Given the description of an element on the screen output the (x, y) to click on. 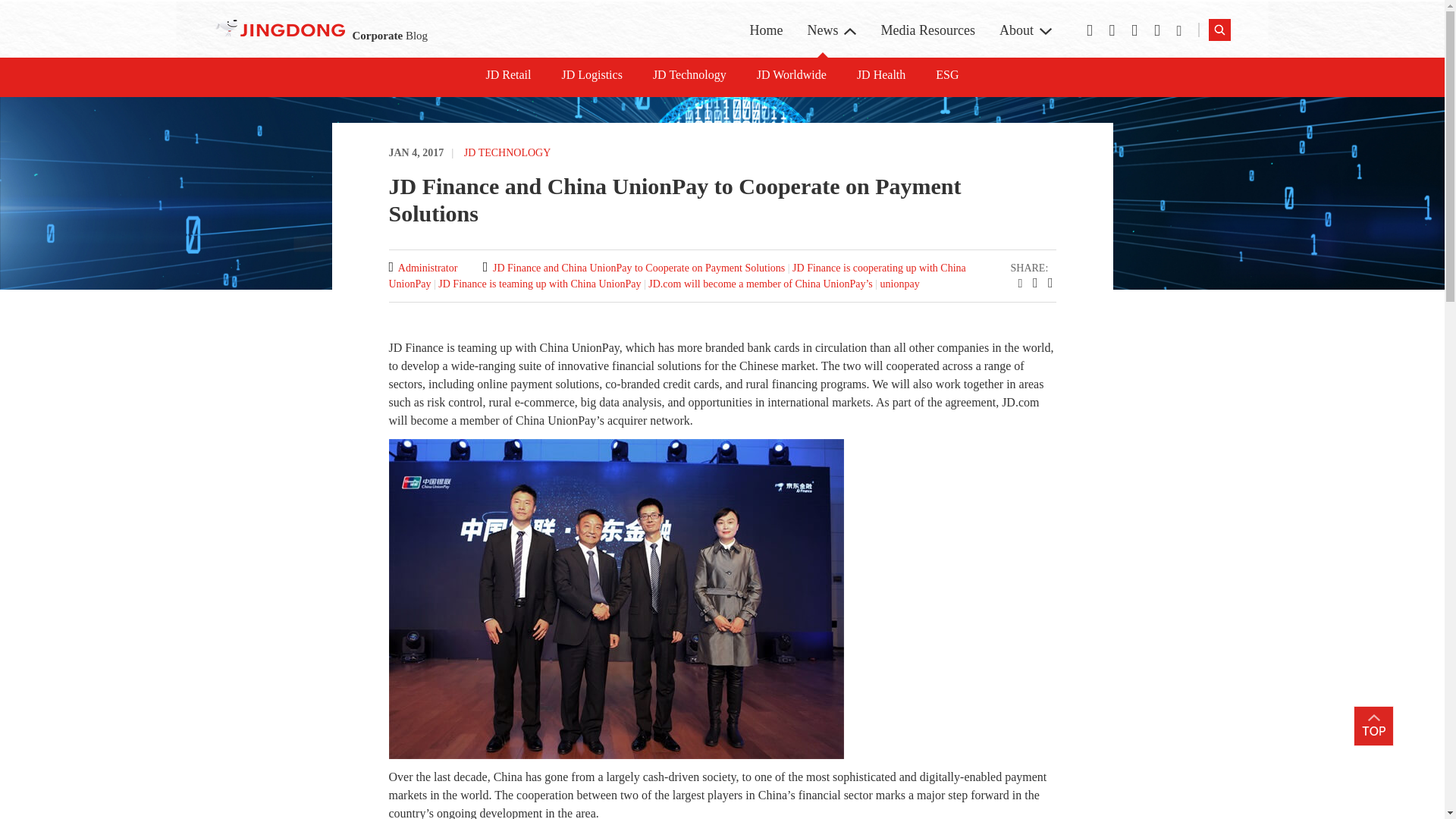
JD Health (881, 75)
JD Retail (507, 75)
ESG (947, 75)
Media Resources (927, 28)
JD Technology (683, 17)
ESG (947, 75)
ESG (941, 17)
JD Technology (689, 75)
JD Health (881, 75)
JD Logistics (590, 75)
